Given the description of an element on the screen output the (x, y) to click on. 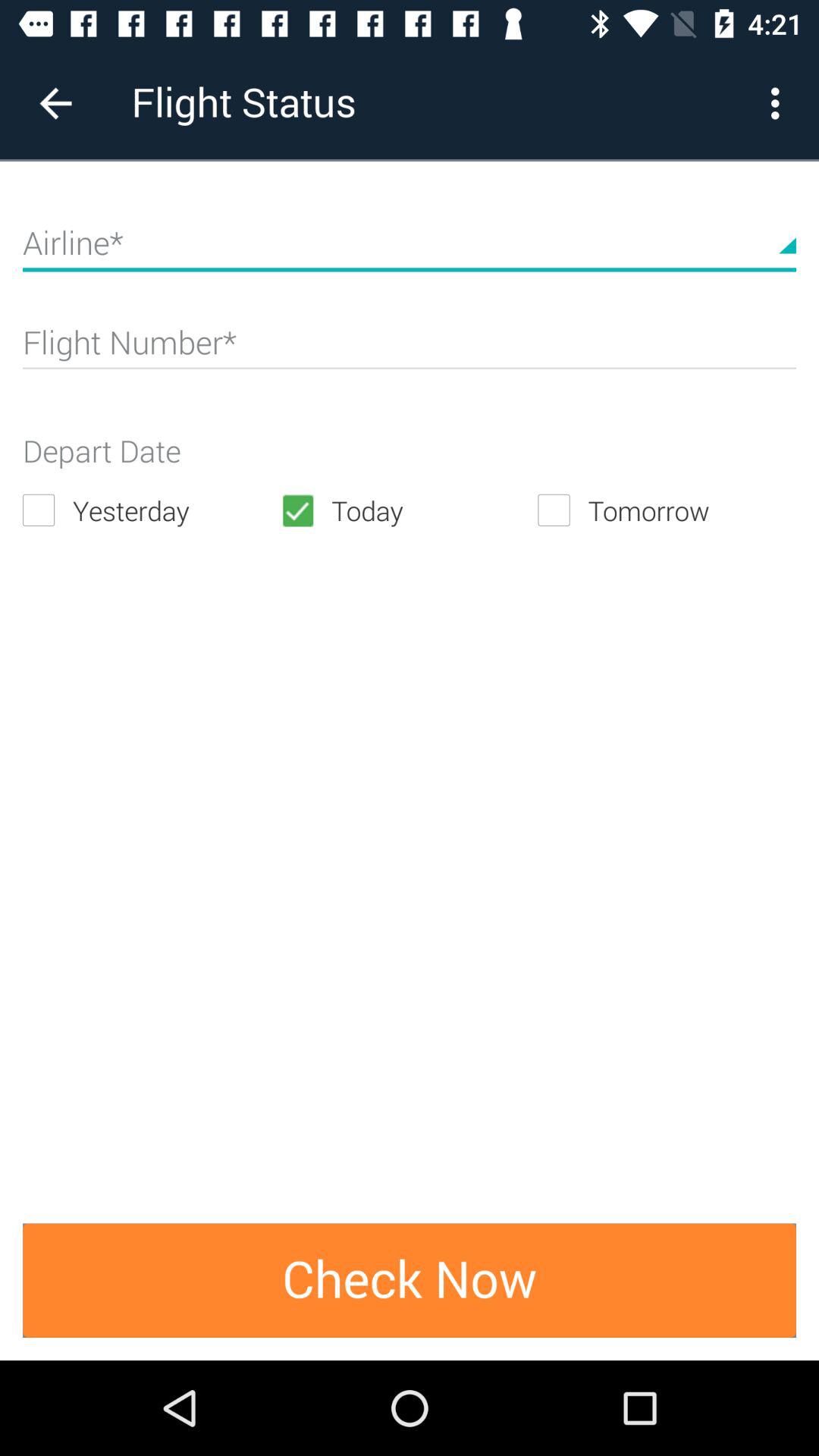
enter flight number (409, 348)
